Given the description of an element on the screen output the (x, y) to click on. 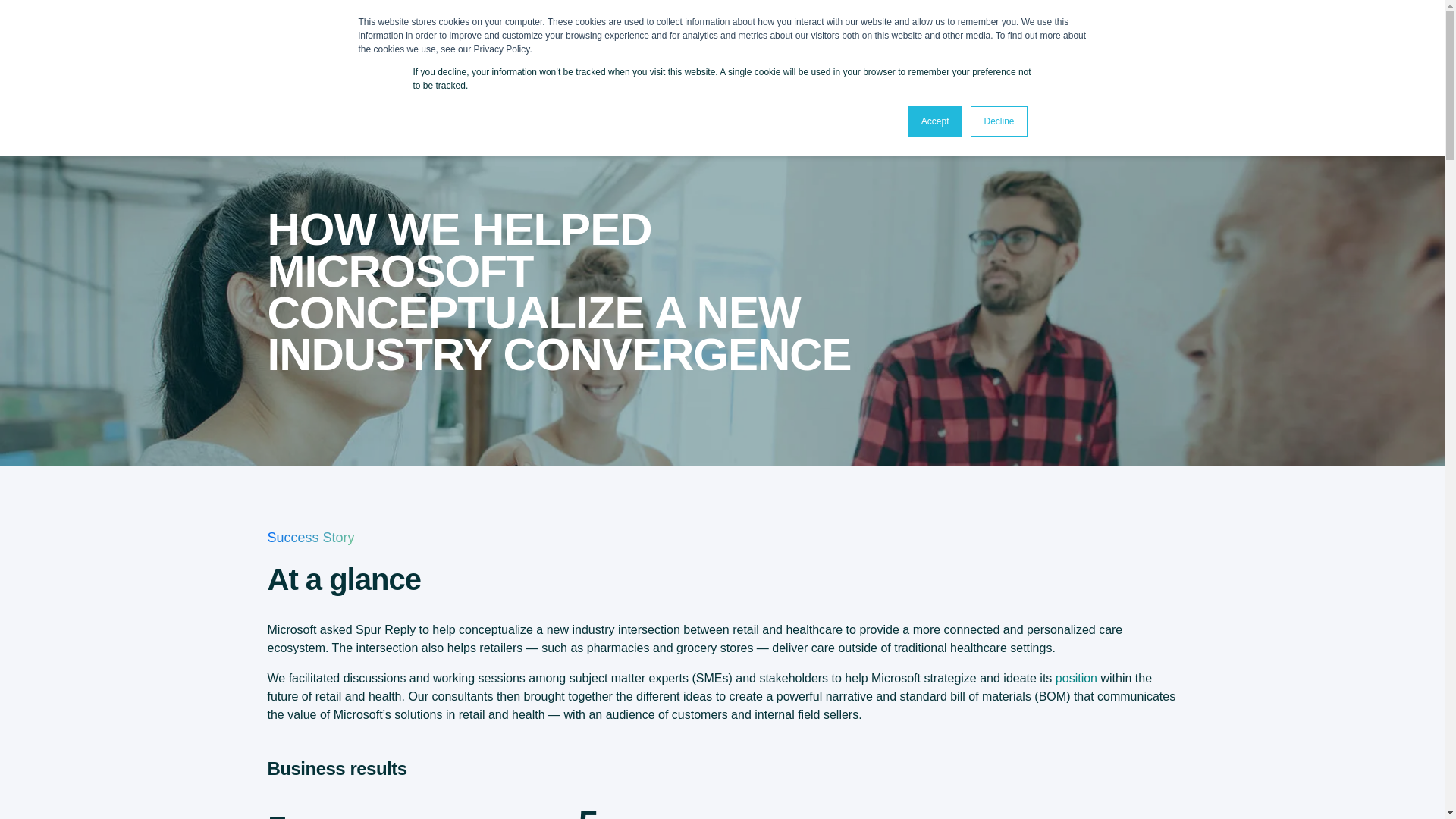
Accept (935, 121)
Decline (998, 121)
SERVICES (587, 32)
